Given the description of an element on the screen output the (x, y) to click on. 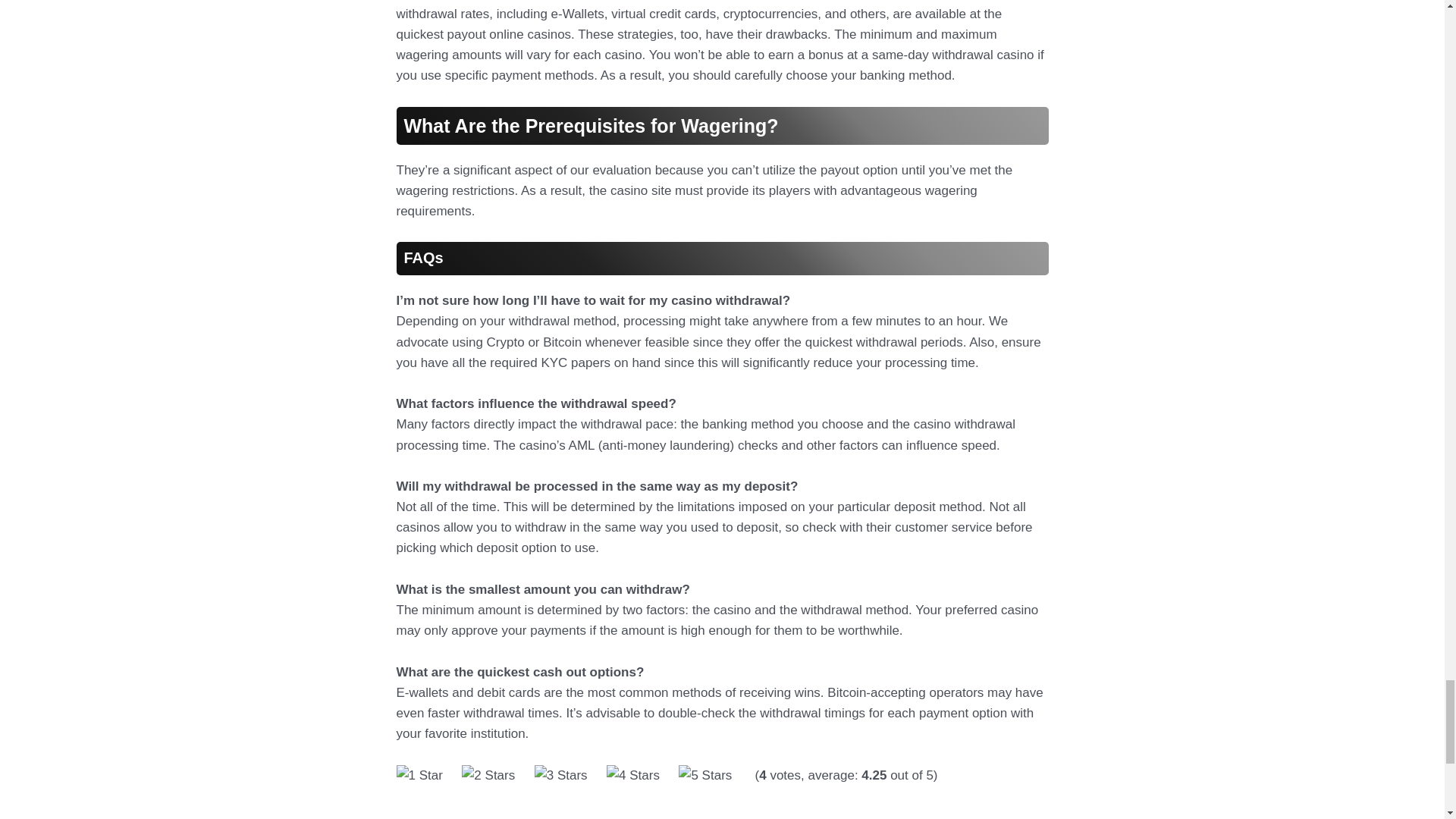
2 Stars (488, 774)
1 Star (419, 774)
4 Stars (633, 774)
3 Stars (561, 774)
5 Stars (705, 774)
